Given the description of an element on the screen output the (x, y) to click on. 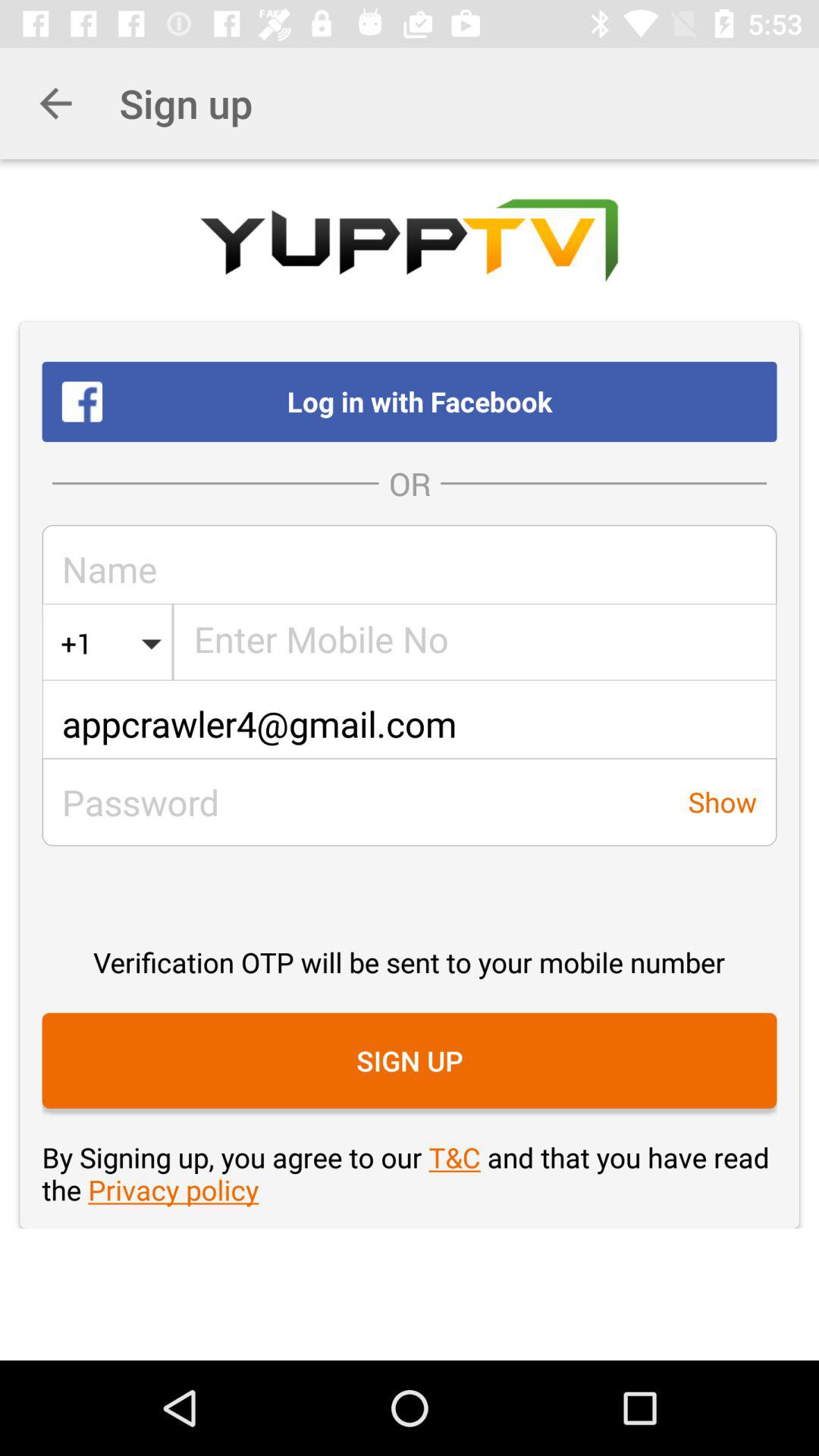
choose the icon next to united states (77, 643)
